Given the description of an element on the screen output the (x, y) to click on. 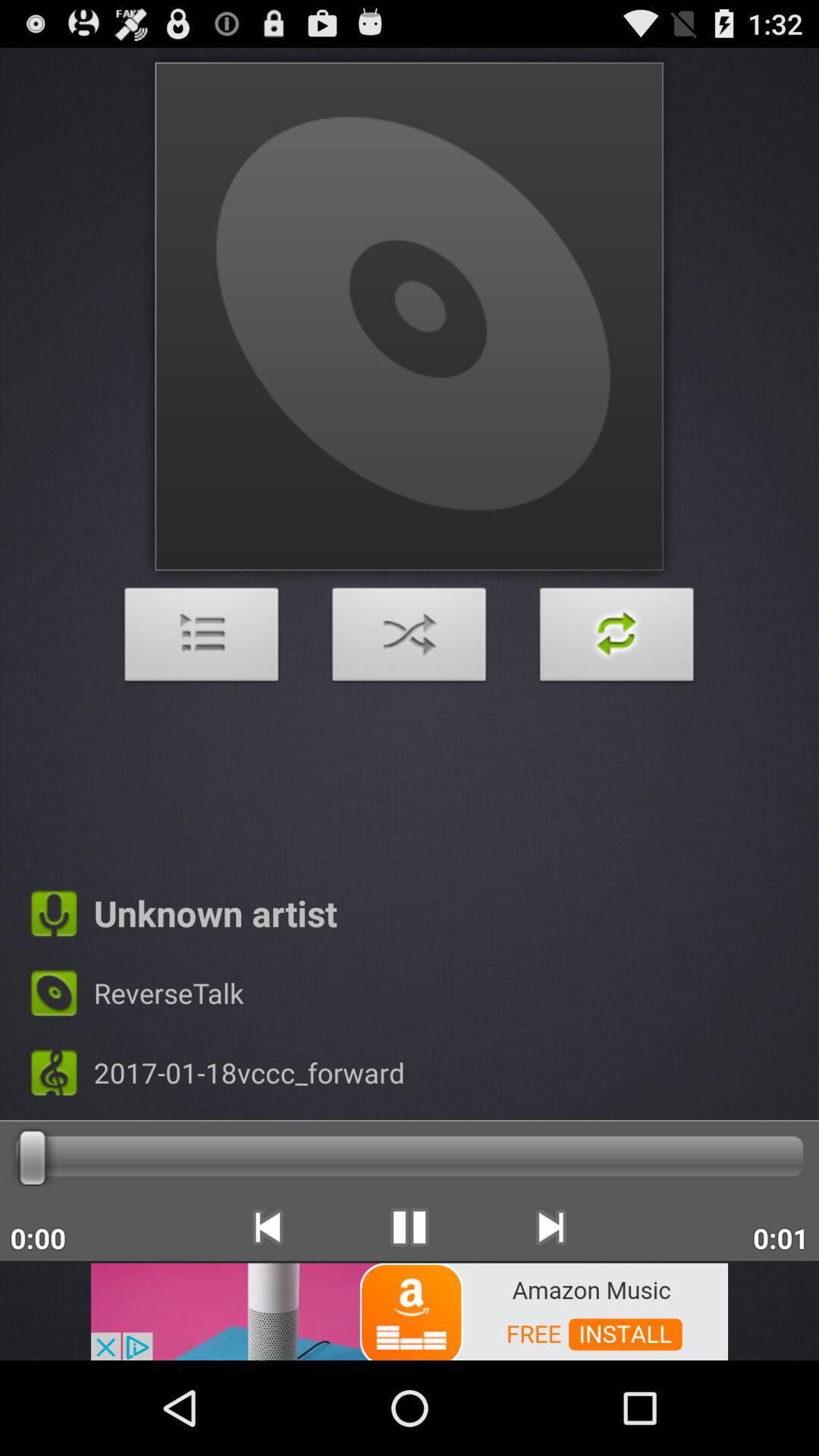
shuffle (616, 638)
